Given the description of an element on the screen output the (x, y) to click on. 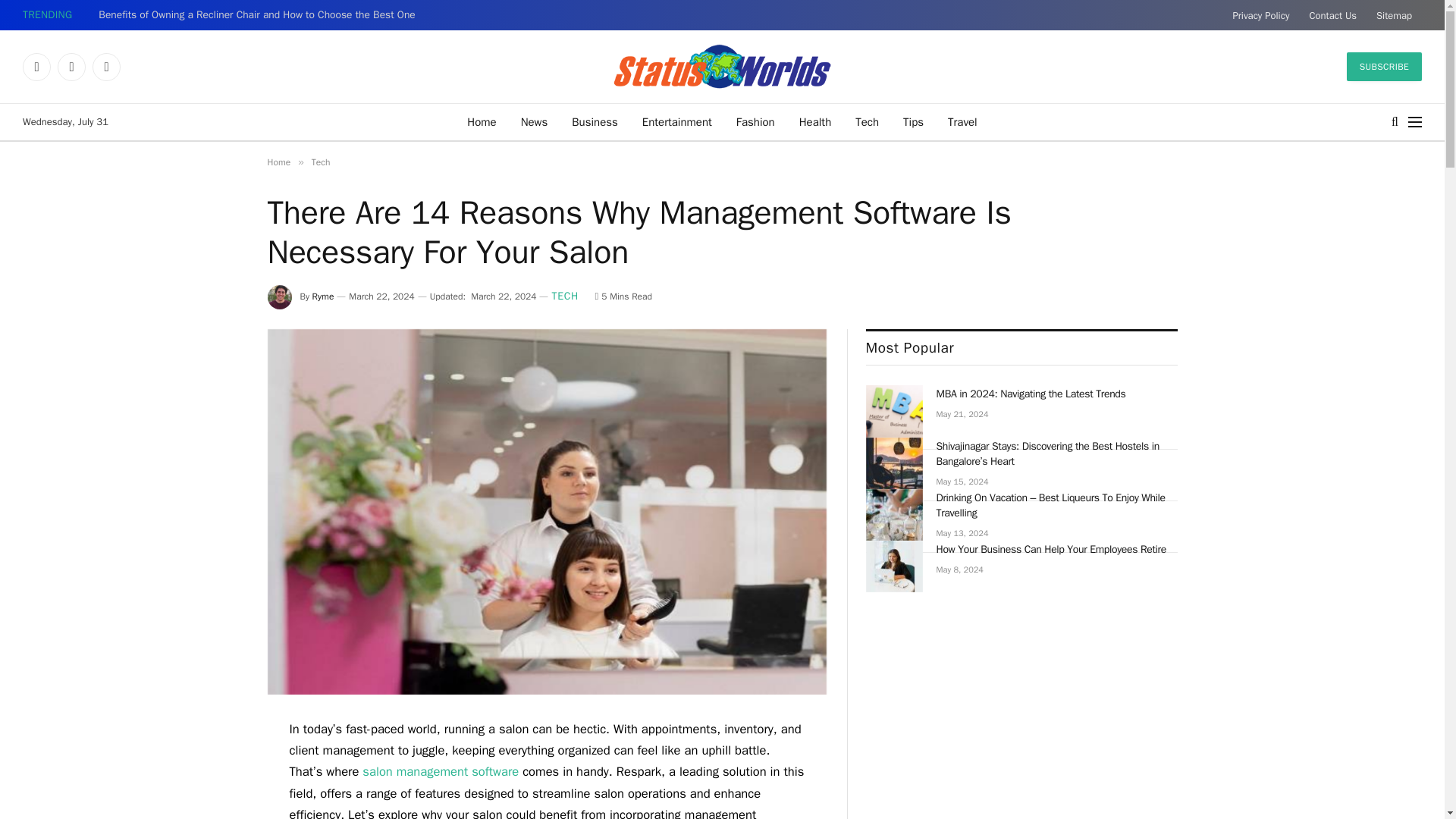
Privacy Policy (1260, 15)
SUBSCRIBE (1384, 66)
Health (815, 122)
Instagram (106, 67)
Facebook (36, 67)
News (534, 122)
Travel (963, 122)
Twitter (71, 67)
Posts by Ryme (323, 296)
Business (594, 122)
Statusworlds.com (722, 66)
Tips (913, 122)
Fashion (755, 122)
